Given the description of an element on the screen output the (x, y) to click on. 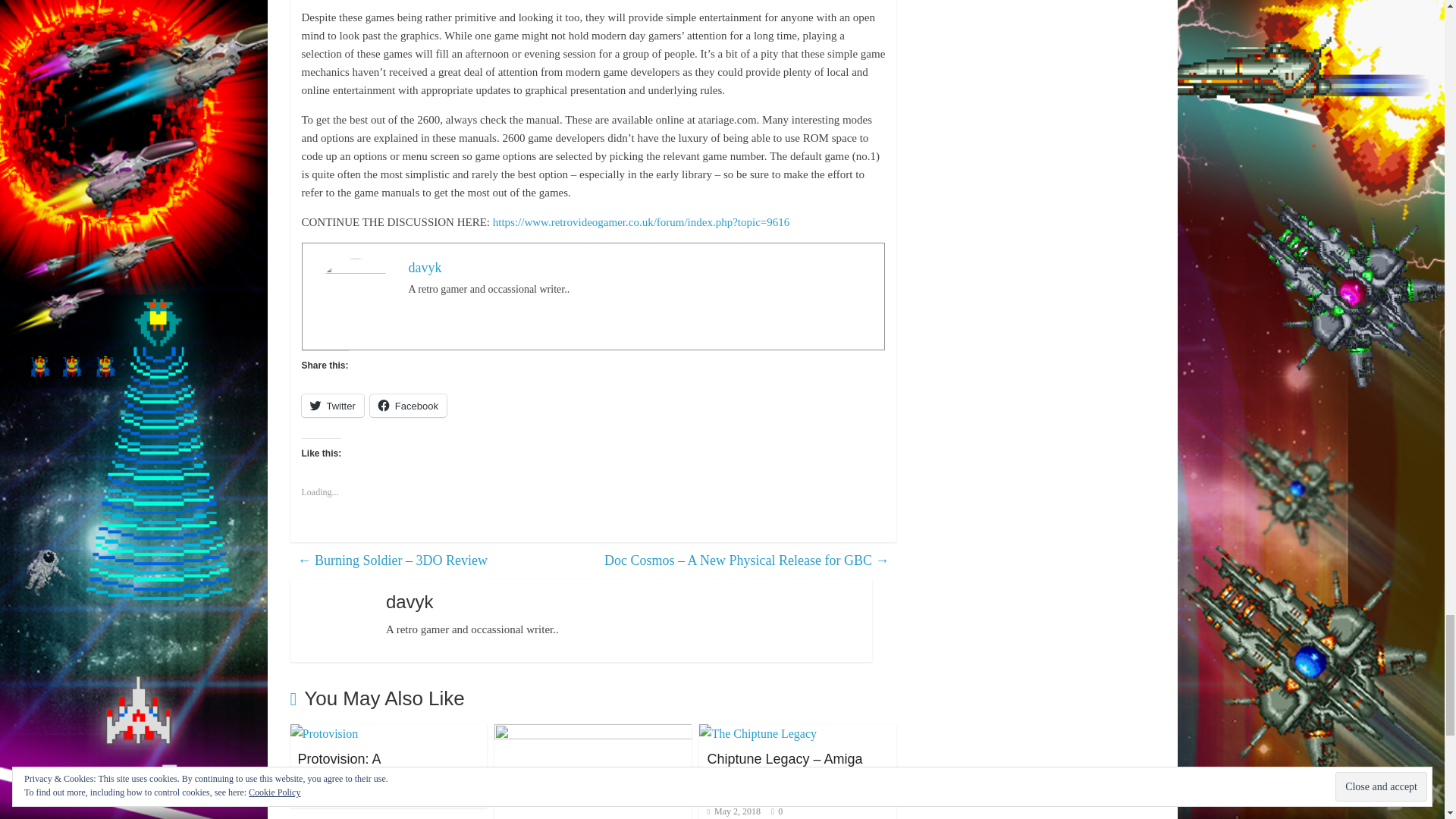
7:57 pm (326, 794)
Click to share on Twitter (332, 404)
Protovision: A RETROspective. (323, 733)
Protovision: A RETROspective. (347, 766)
Click to share on Facebook (407, 404)
Psytronik Software: A RETROspective. (593, 733)
